Given the description of an element on the screen output the (x, y) to click on. 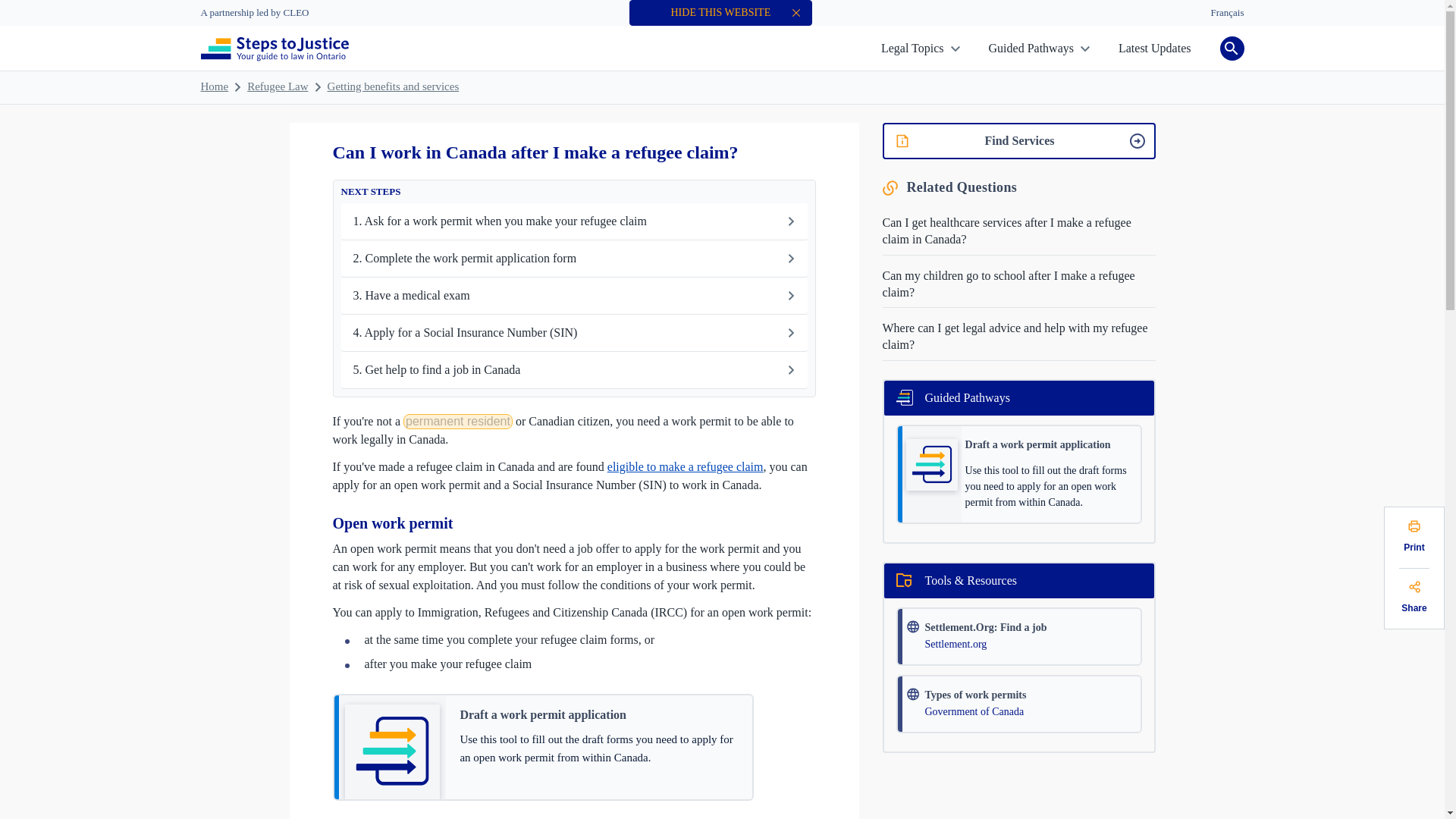
Legal Topics (919, 48)
Home page (273, 49)
Home (214, 86)
Hide button (796, 12)
Latest Updates (1154, 48)
Refugee Law (277, 86)
Getting benefits and services (393, 86)
Guided Pathways (1038, 48)
